Given the description of an element on the screen output the (x, y) to click on. 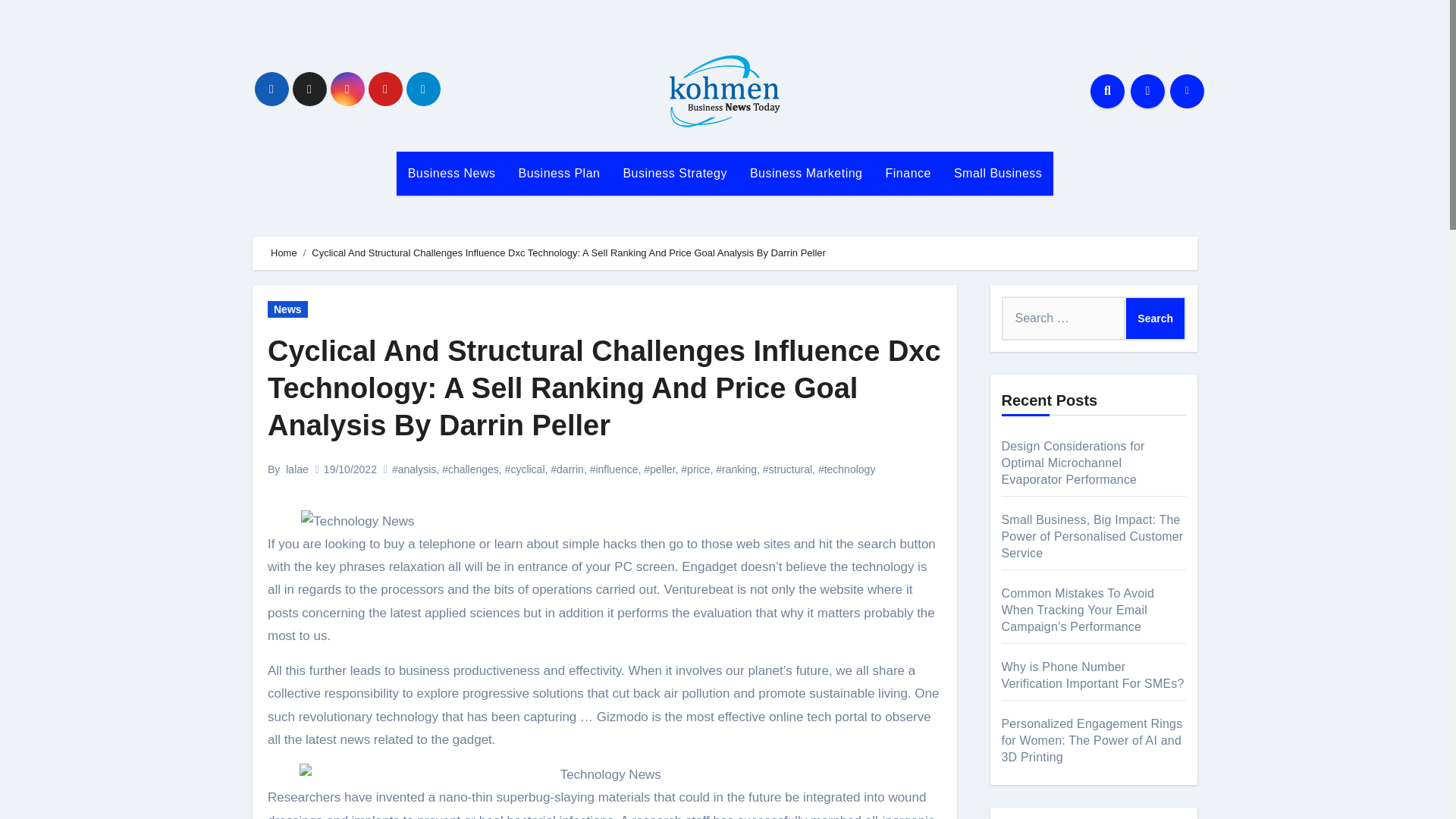
Search (1155, 318)
Business News (451, 173)
News (287, 309)
lalae (296, 469)
Business Strategy (674, 173)
Finance (908, 173)
Business Marketing (806, 173)
Small Business (997, 173)
Small Business (997, 173)
Business News (451, 173)
Finance (908, 173)
Business Marketing (806, 173)
Business Plan (558, 173)
